Given the description of an element on the screen output the (x, y) to click on. 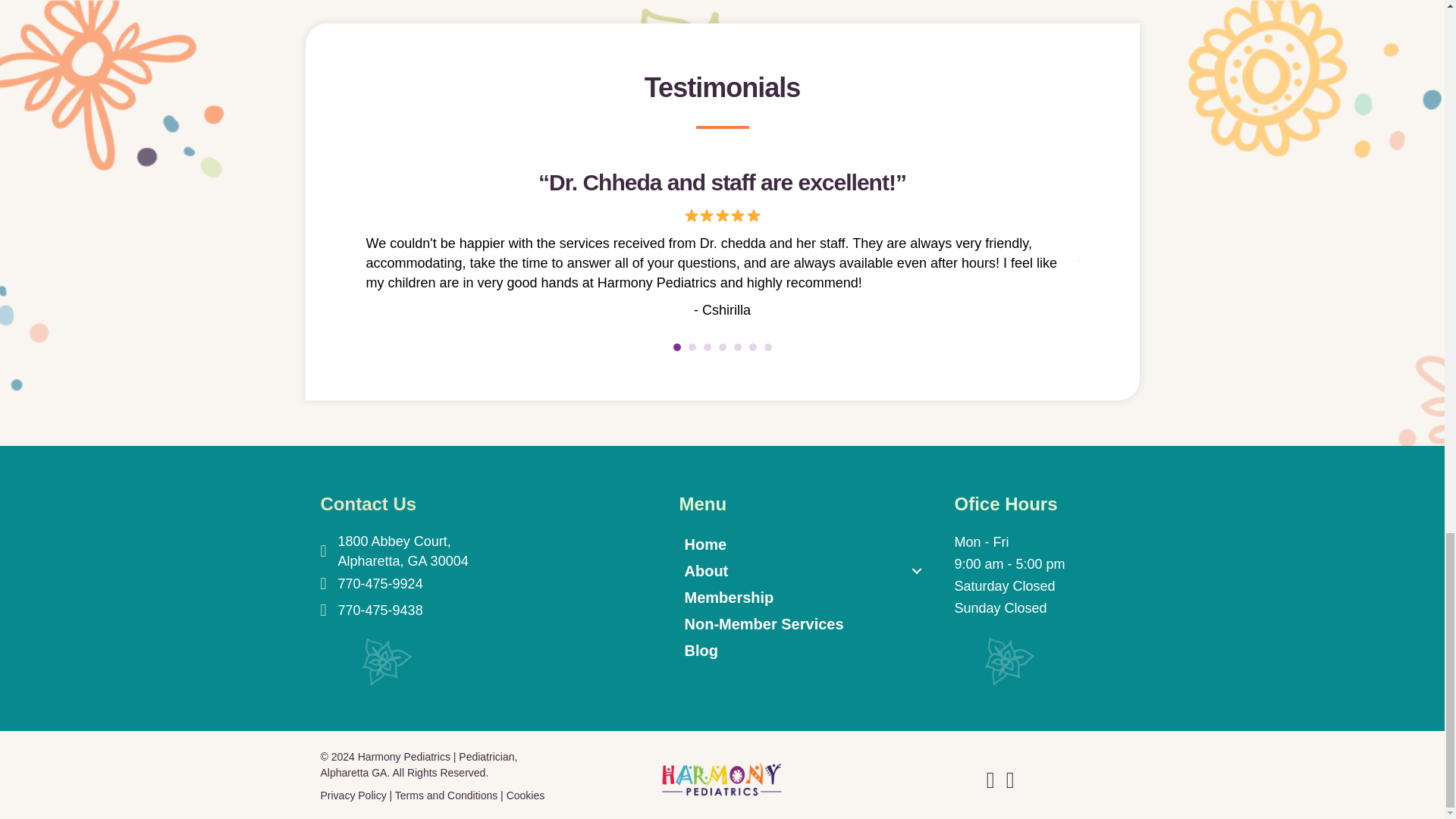
770-475-9924 (380, 583)
7 (767, 347)
1 (676, 347)
2 (691, 347)
Membership (801, 597)
Non-Member Services (801, 623)
About (801, 570)
5 (737, 347)
4 (722, 347)
sepflow-t (1008, 661)
